Given the description of an element on the screen output the (x, y) to click on. 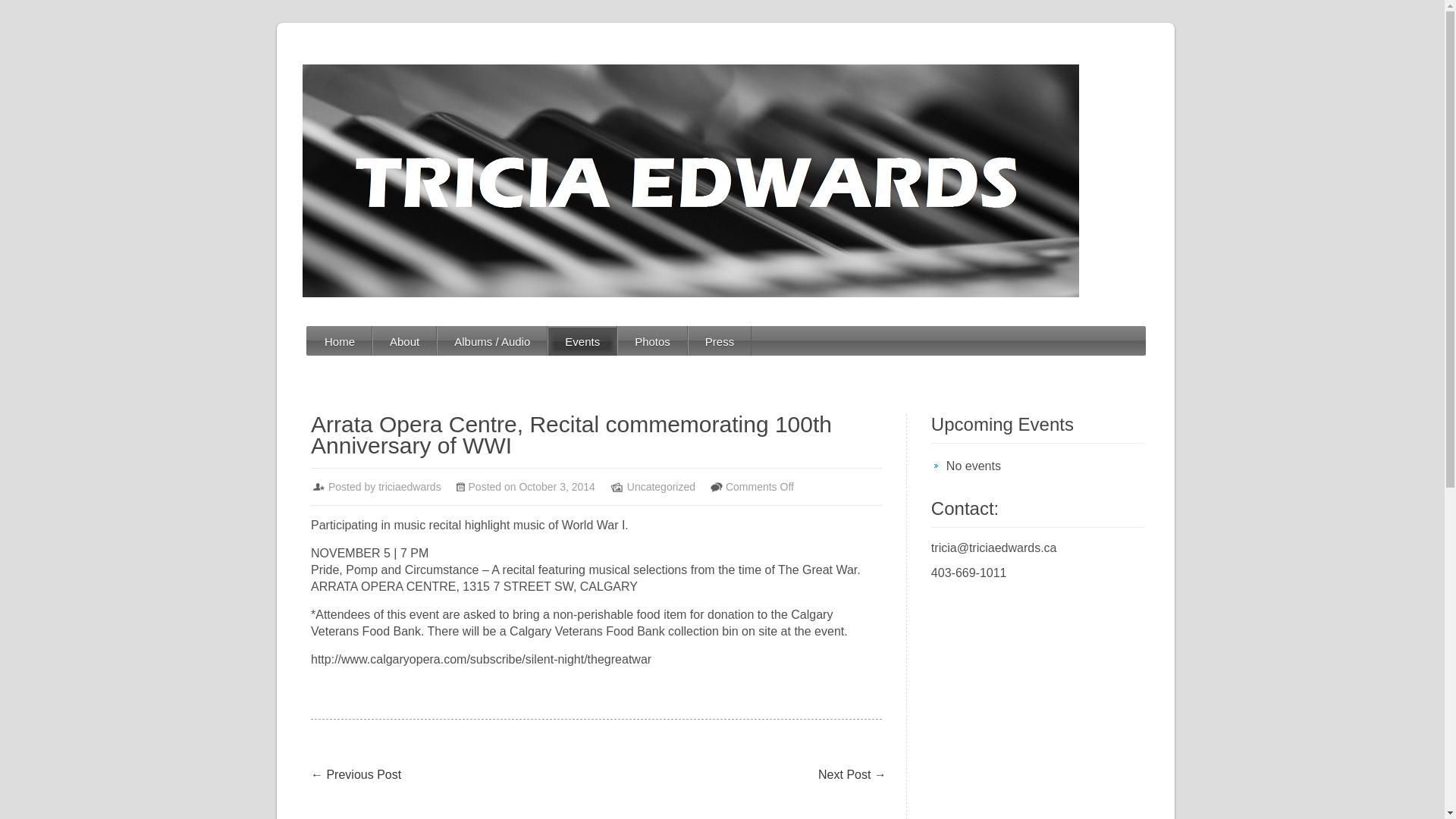
Photos (652, 341)
Uncategorized (661, 486)
triciaedwards (409, 486)
About (403, 341)
Press (719, 341)
Events (581, 341)
Home (339, 341)
